Given the description of an element on the screen output the (x, y) to click on. 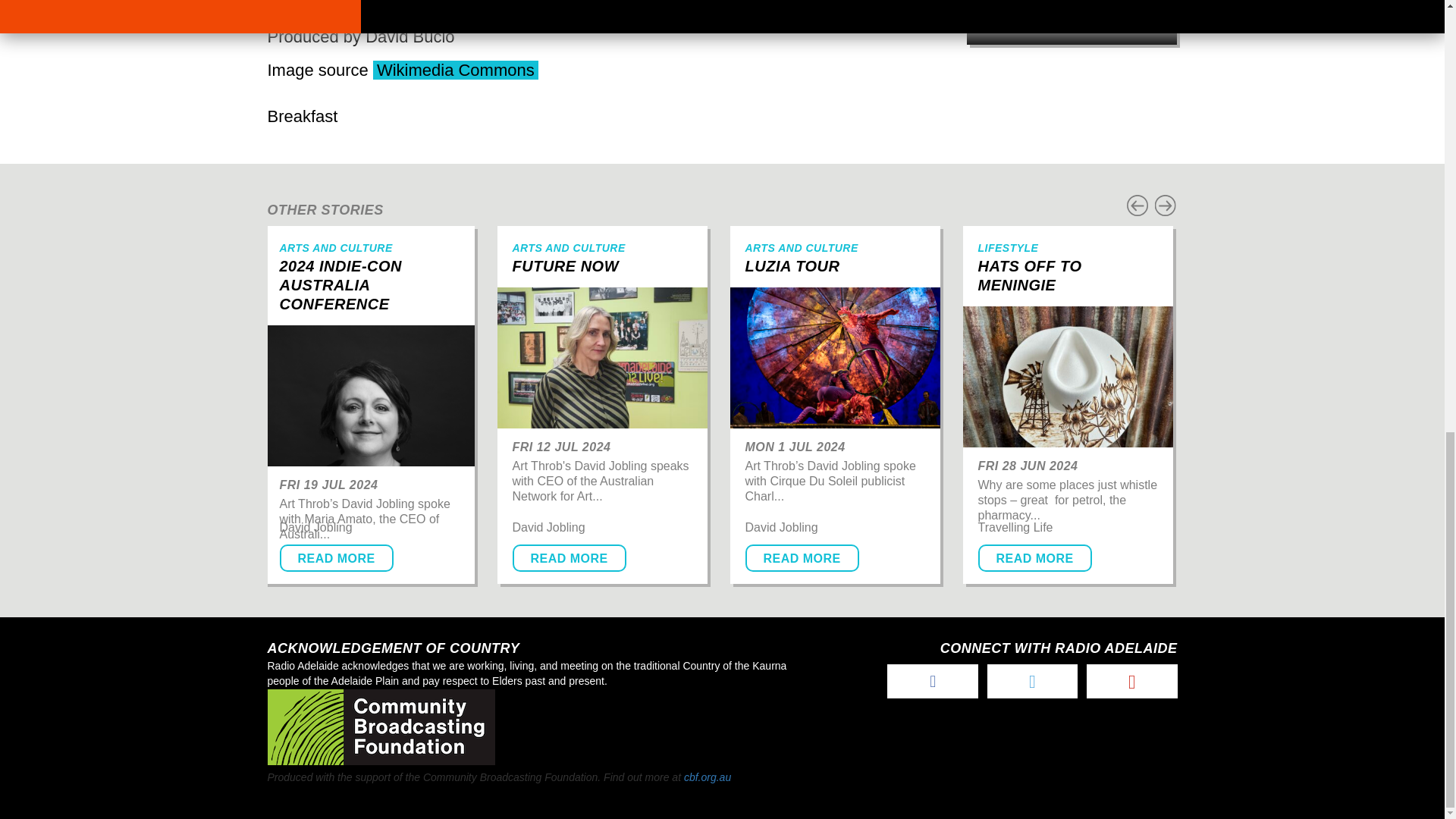
Play (286, 10)
Mute (752, 10)
